Given the description of an element on the screen output the (x, y) to click on. 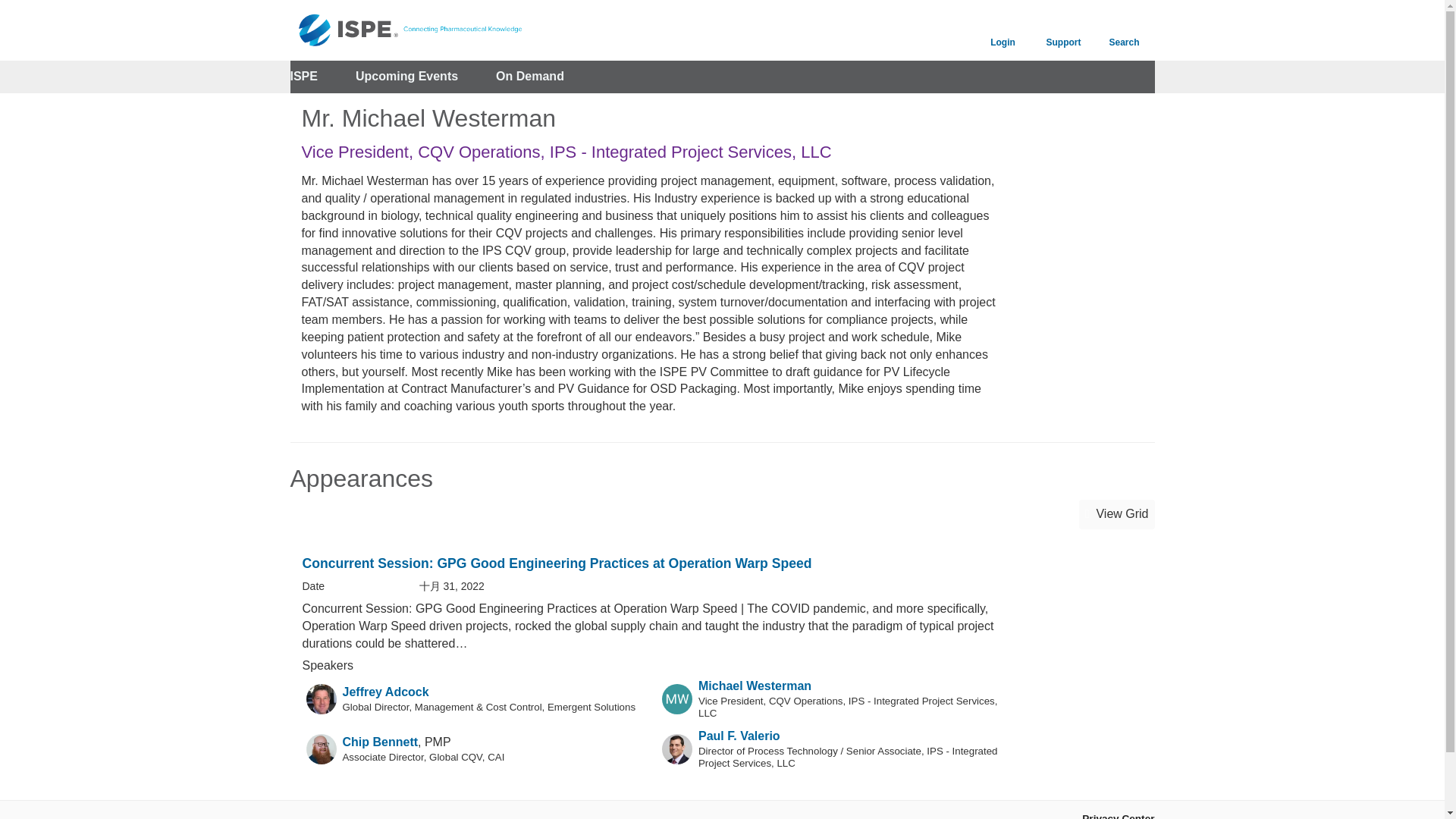
Michael Westerman (754, 685)
Search (1123, 30)
Speaker Image for Chip Bennett (320, 748)
Login (1002, 30)
Speaker Image for Jeffrey Adcock (320, 698)
Chip Bennett (380, 741)
Paul F. Valerio (739, 735)
Jeffrey Adcock (385, 691)
  View Grid (1116, 514)
